Given the description of an element on the screen output the (x, y) to click on. 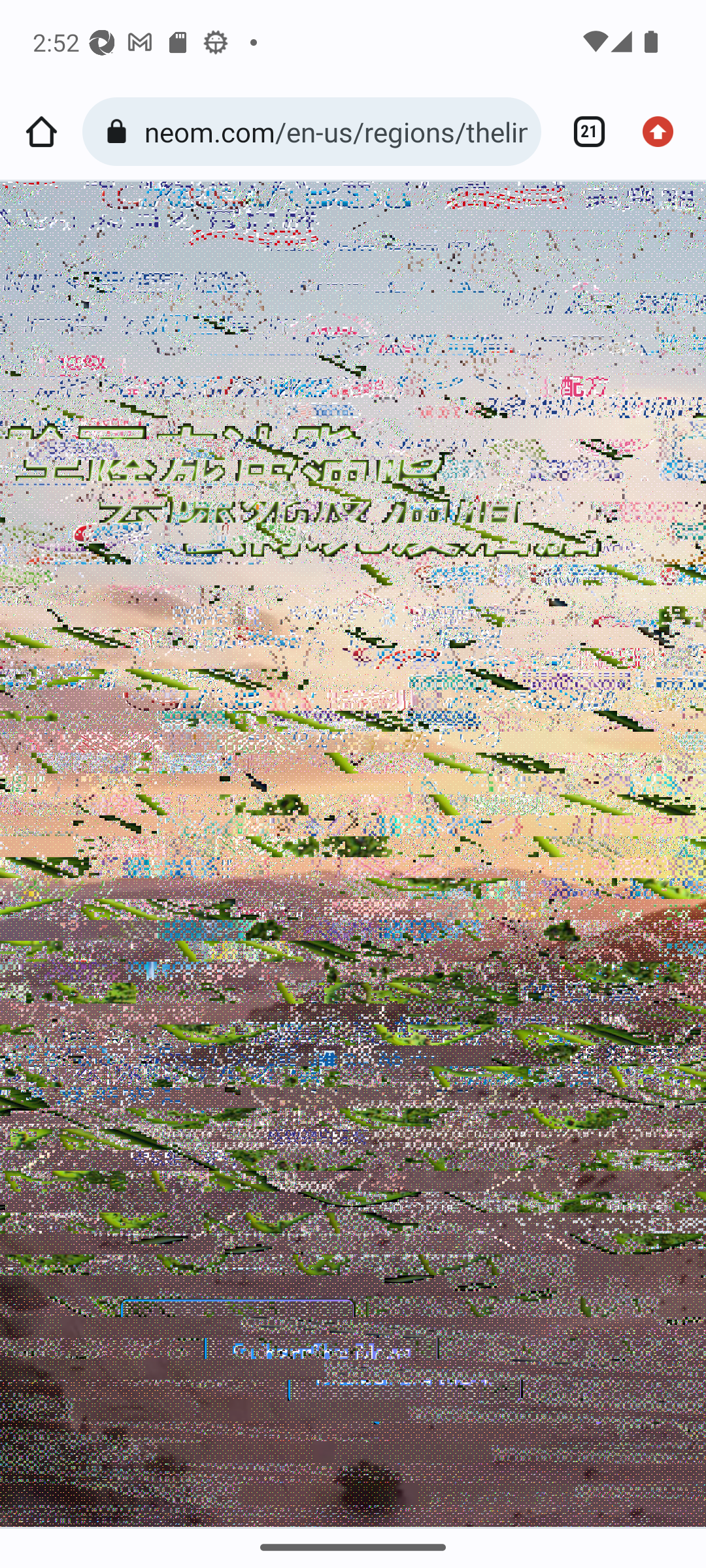
Home (41, 131)
Connection is secure (120, 131)
Switch or close tabs (582, 131)
Update available. More options (664, 131)
